Given the description of an element on the screen output the (x, y) to click on. 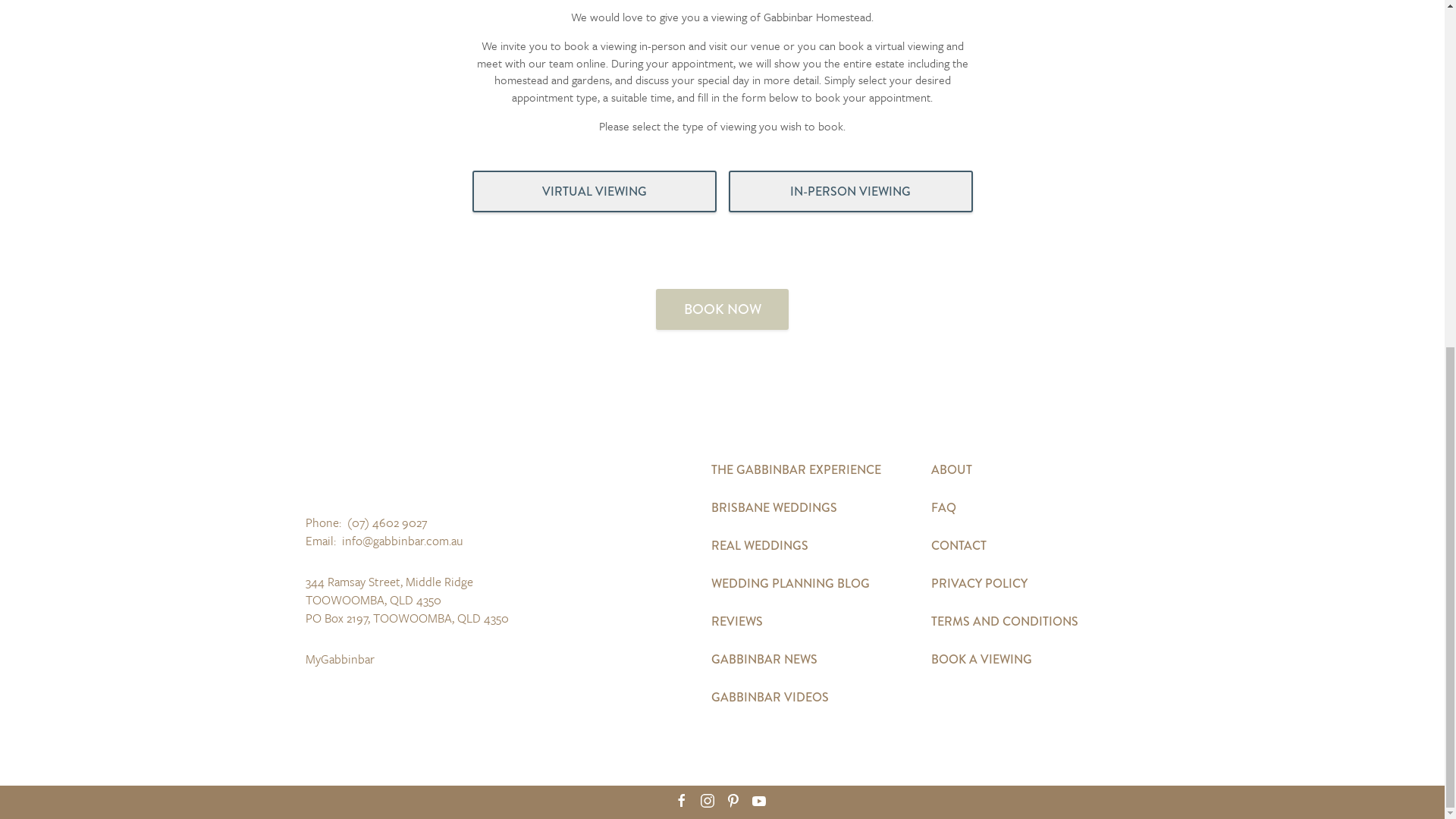
MENU Element type: text (1381, 44)
VIRTUAL VIEWING Element type: text (593, 789)
IN-PERSON VIEWING Element type: text (850, 789)
Gabbinbar Homestead Element type: text (130, 44)
